Given the description of an element on the screen output the (x, y) to click on. 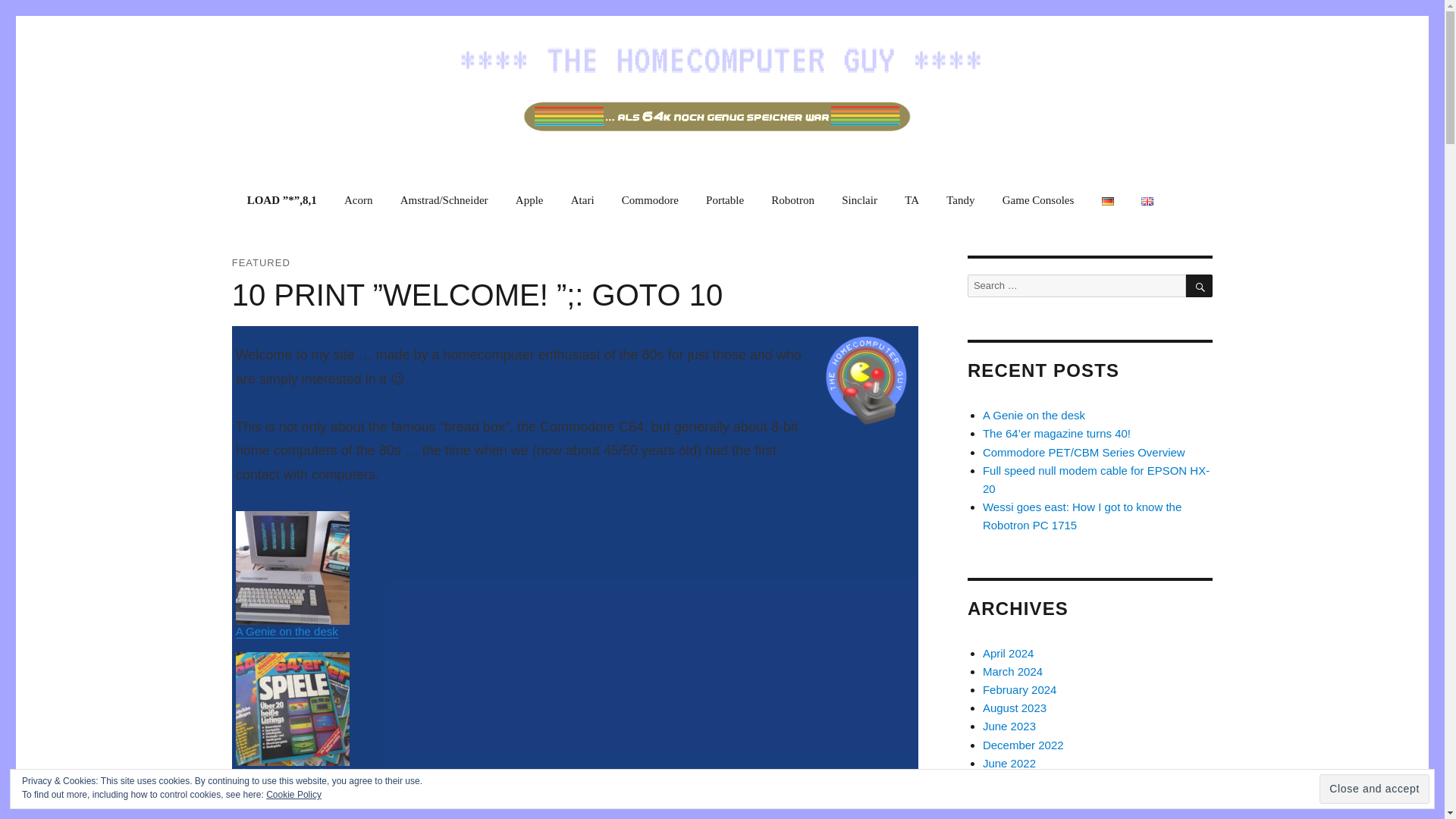
A Genie on the desk (286, 631)
Portable (724, 200)
TA (911, 200)
Game Consoles (1038, 200)
The 64'er magazine turns 40! (309, 771)
Acorn (358, 200)
A Genie on the desk (286, 631)
The 64'er magazine turns 40! (309, 771)
Close and accept (1374, 788)
Tandy (960, 200)
